Given the description of an element on the screen output the (x, y) to click on. 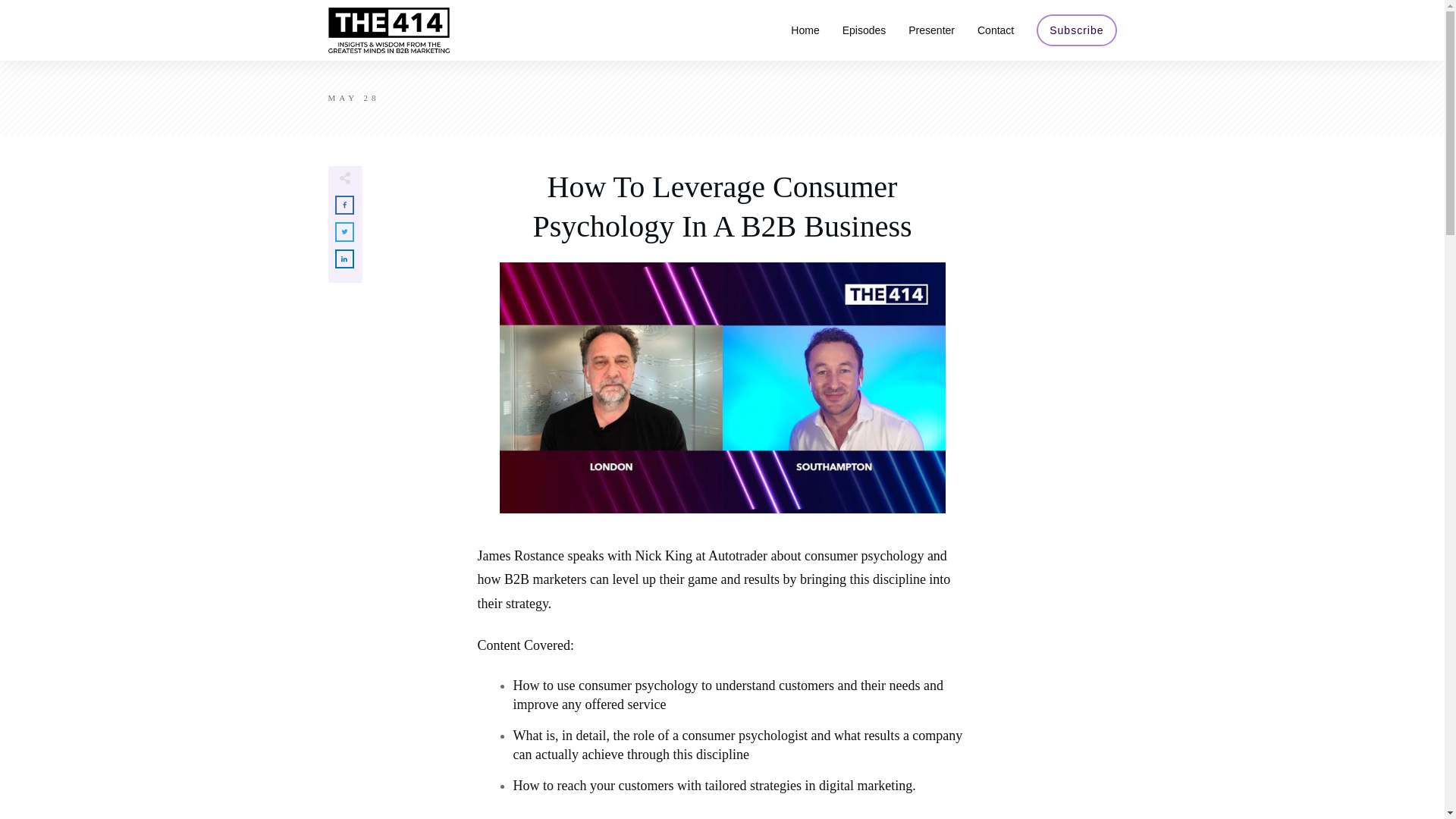
Presenter (931, 29)
Episodes (864, 29)
The 414 - 2 Shot - Episode 21 copy (721, 387)
Home (804, 29)
Subscribe (1076, 29)
Presenter (931, 29)
Contact (994, 29)
Contact (994, 29)
